Given the description of an element on the screen output the (x, y) to click on. 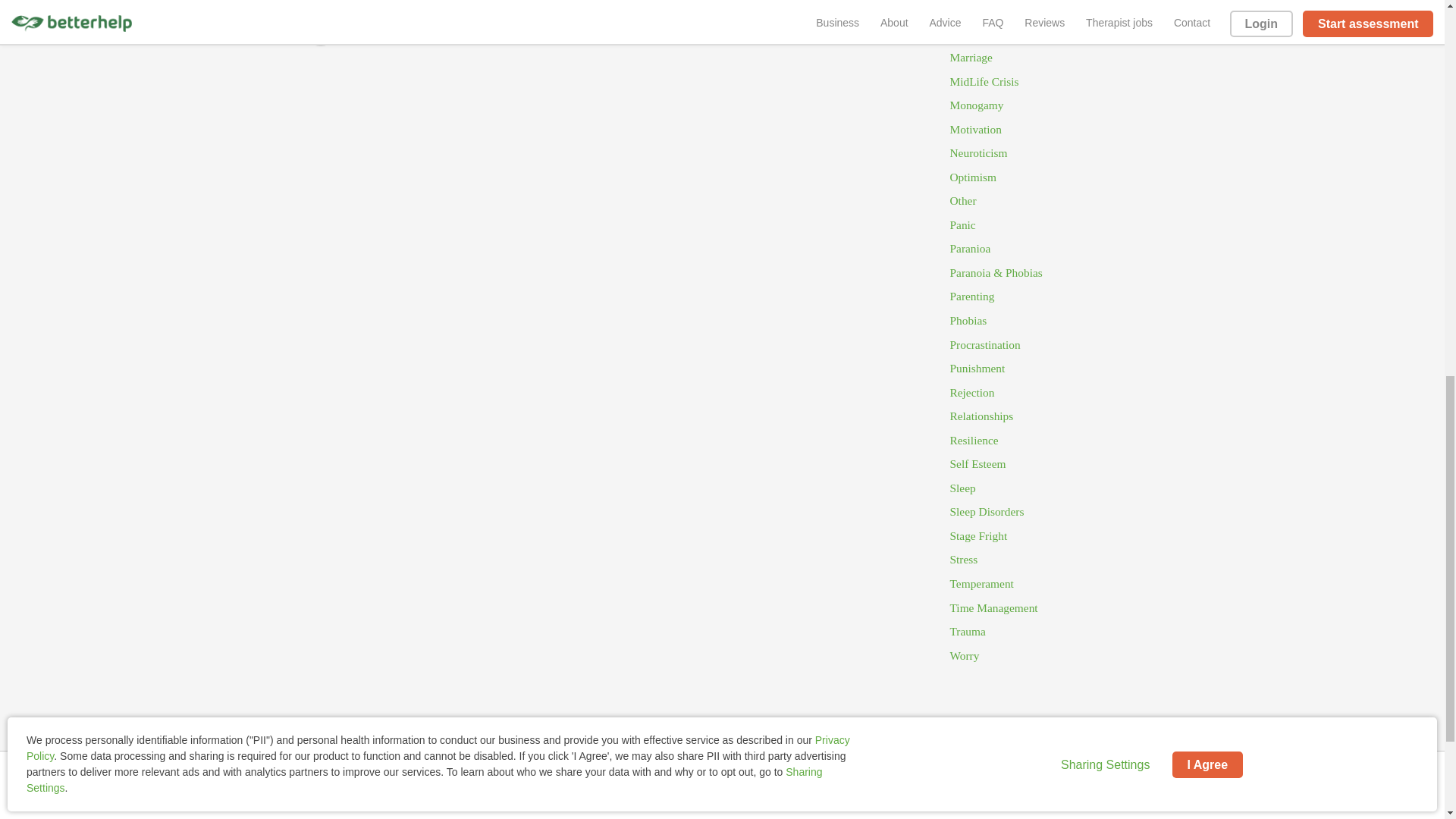
Ms. Susan Kaskowitz (397, 26)
